Given the description of an element on the screen output the (x, y) to click on. 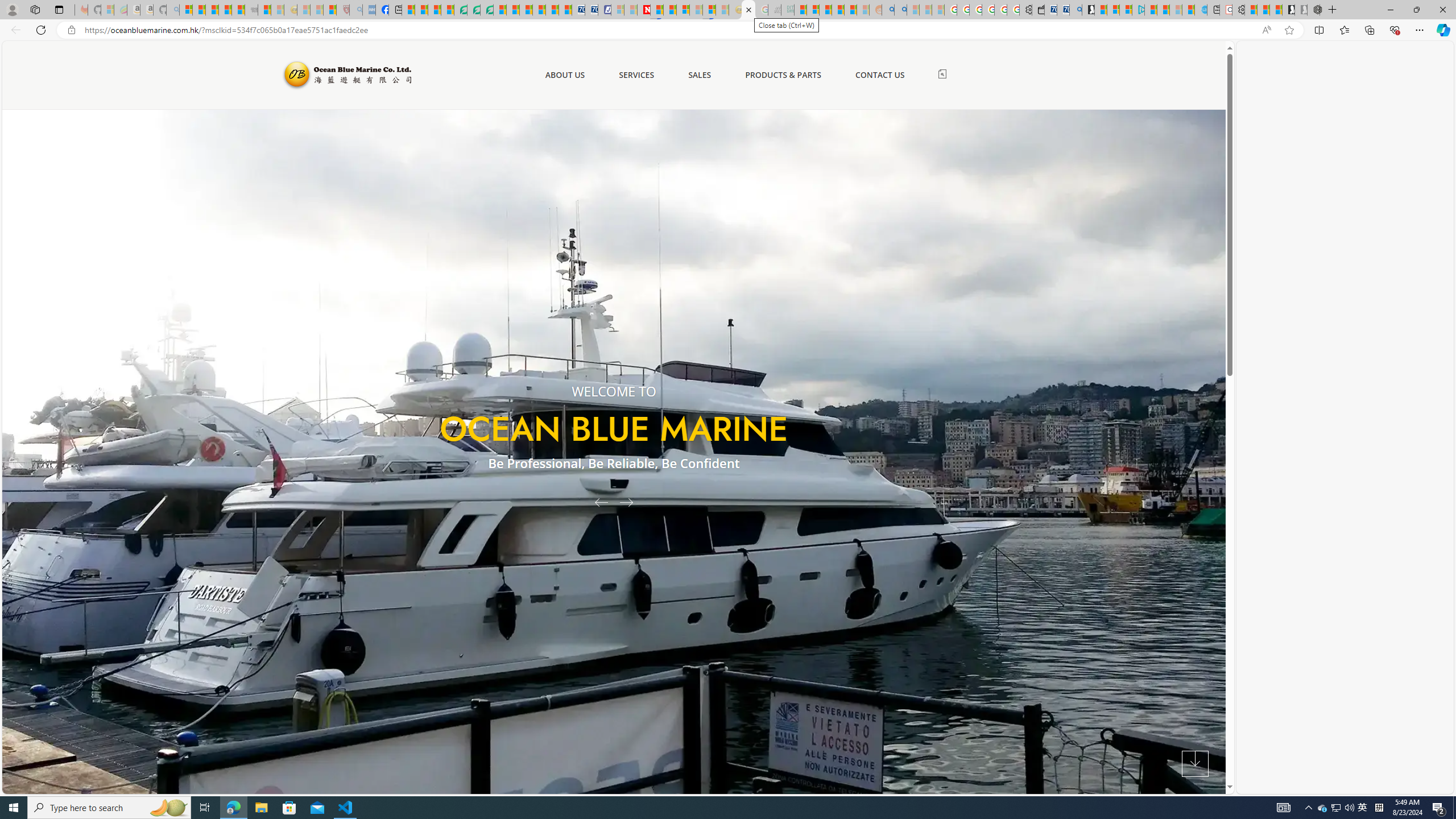
Microsoft Word - consumer-privacy address update 2.2021 (486, 9)
New Report Confirms 2023 Was Record Hot | Watch (237, 9)
PRODUCTS & PARTS (783, 75)
